Given the description of an element on the screen output the (x, y) to click on. 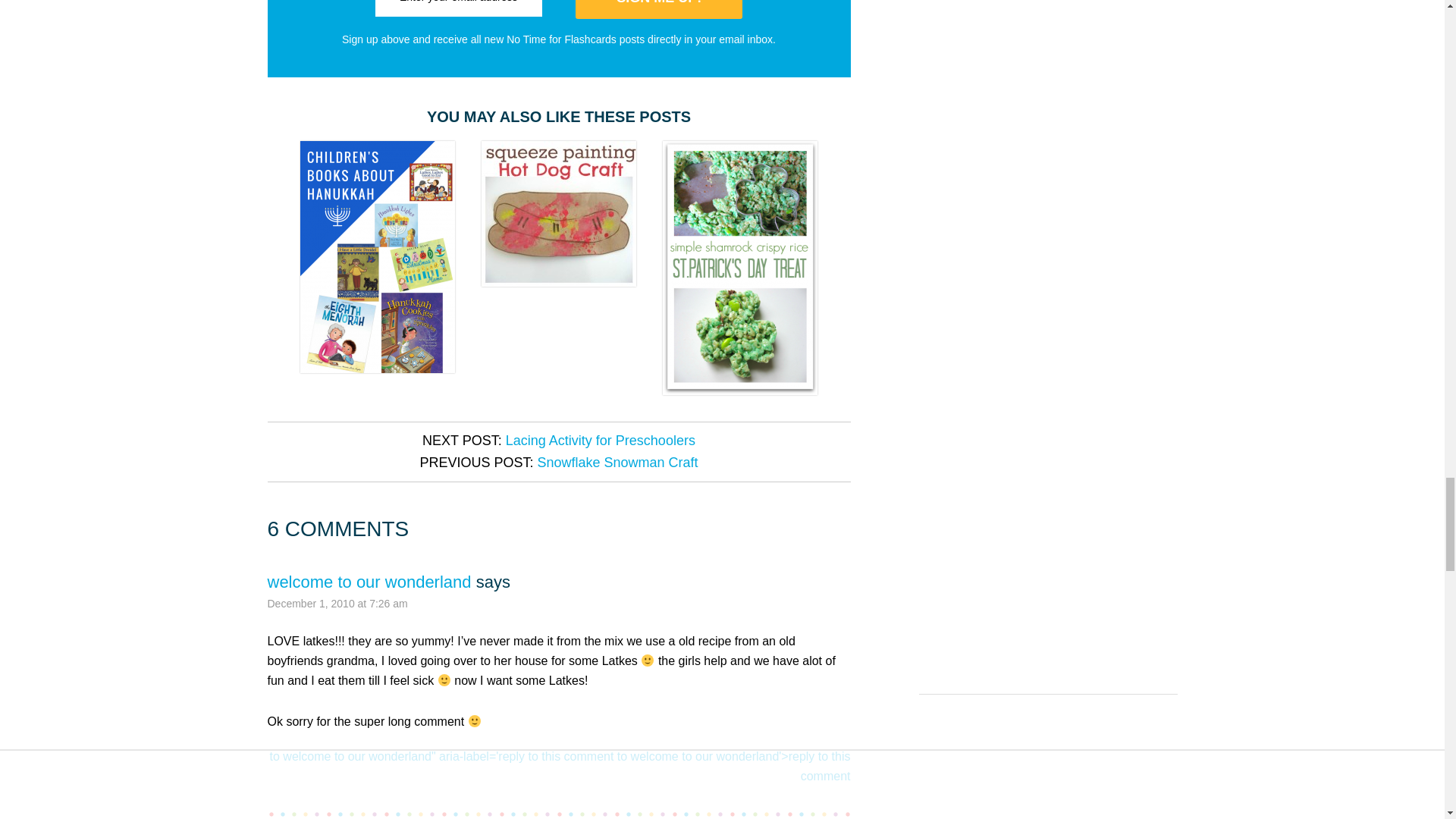
Permanent Link toSqueeze Painting Hot Dog Craft (558, 213)
Sign Me Up! (658, 9)
